Given the description of an element on the screen output the (x, y) to click on. 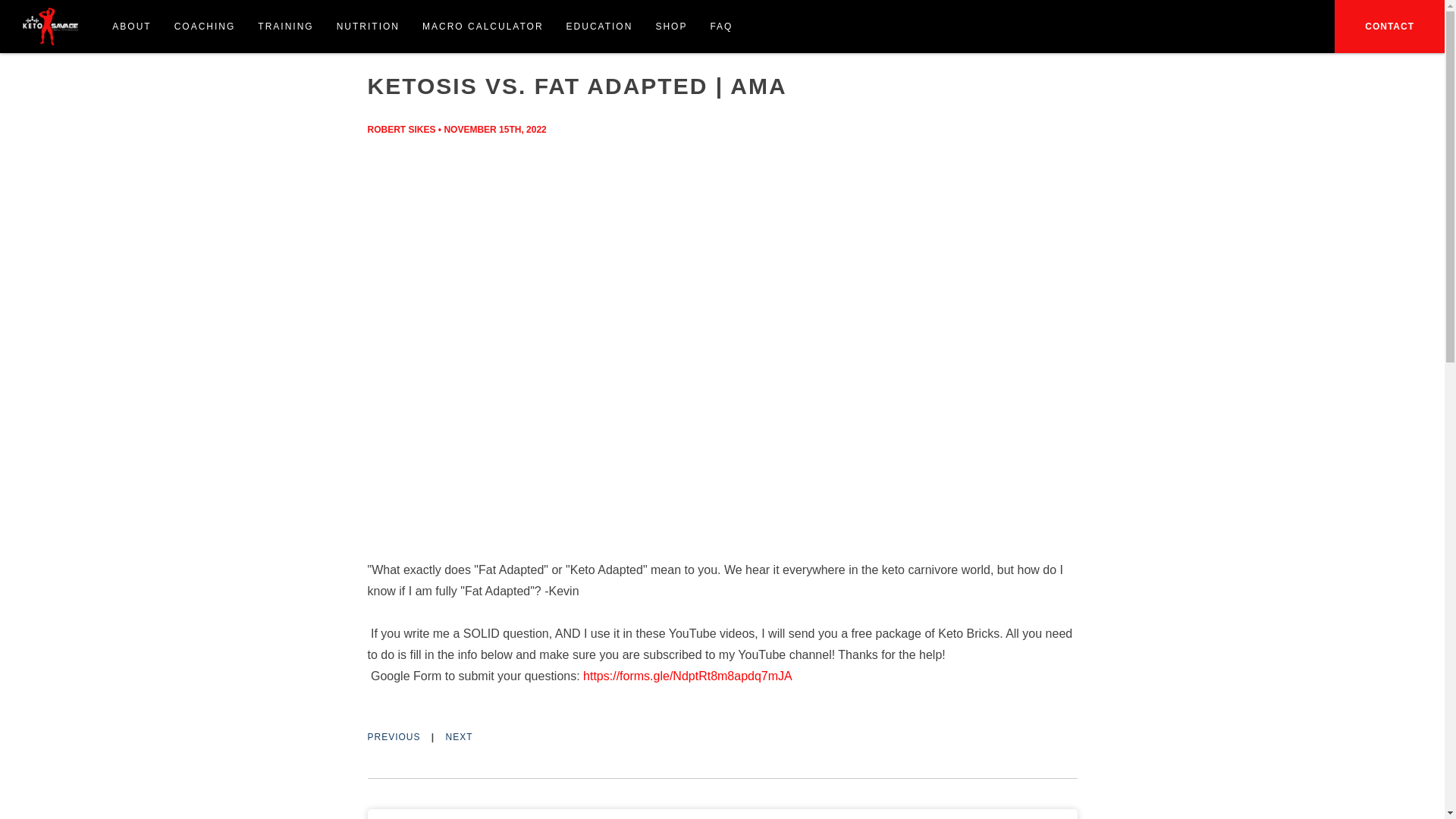
NEXT (459, 737)
BLOG (415, 41)
HOME (380, 41)
COACHING (204, 26)
TRAINING (285, 26)
NUTRITION (367, 26)
EDUCATION (599, 26)
PREVIOUS (393, 737)
MACRO CALCULATOR (482, 26)
